Given the description of an element on the screen output the (x, y) to click on. 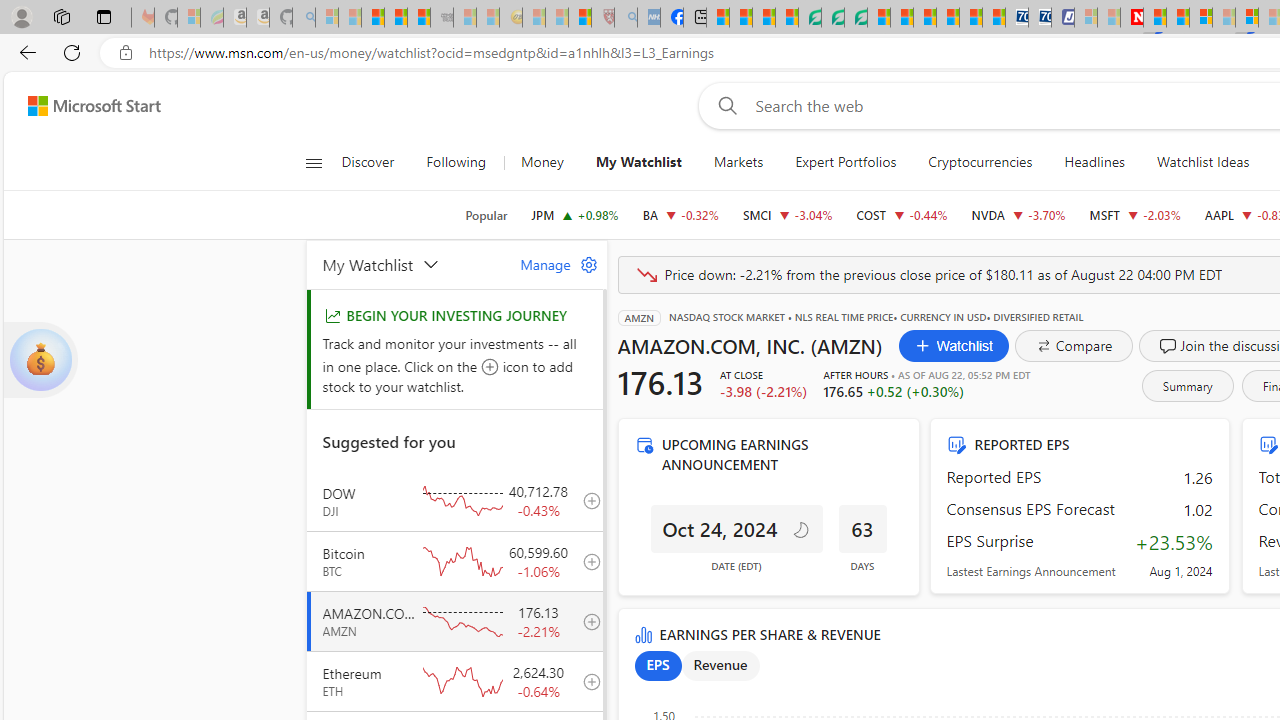
The Weather Channel - MSN (372, 17)
Web search (724, 105)
Expert Portfolios (845, 162)
Expert Portfolios (845, 162)
Manage (551, 264)
Popular (486, 215)
MSFT MICROSOFT CORPORATION decrease 415.55 -8.59 -2.03% (1134, 214)
Watchlist Ideas (1202, 162)
Robert H. Shmerling, MD - Harvard Health - Sleeping (602, 17)
Compare (1073, 345)
